Given the description of an element on the screen output the (x, y) to click on. 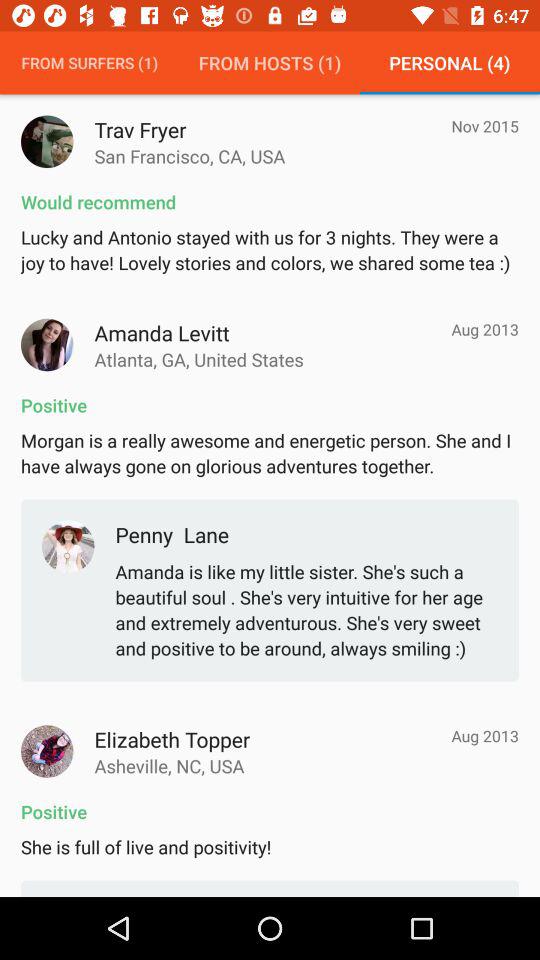
profile (47, 141)
